Given the description of an element on the screen output the (x, y) to click on. 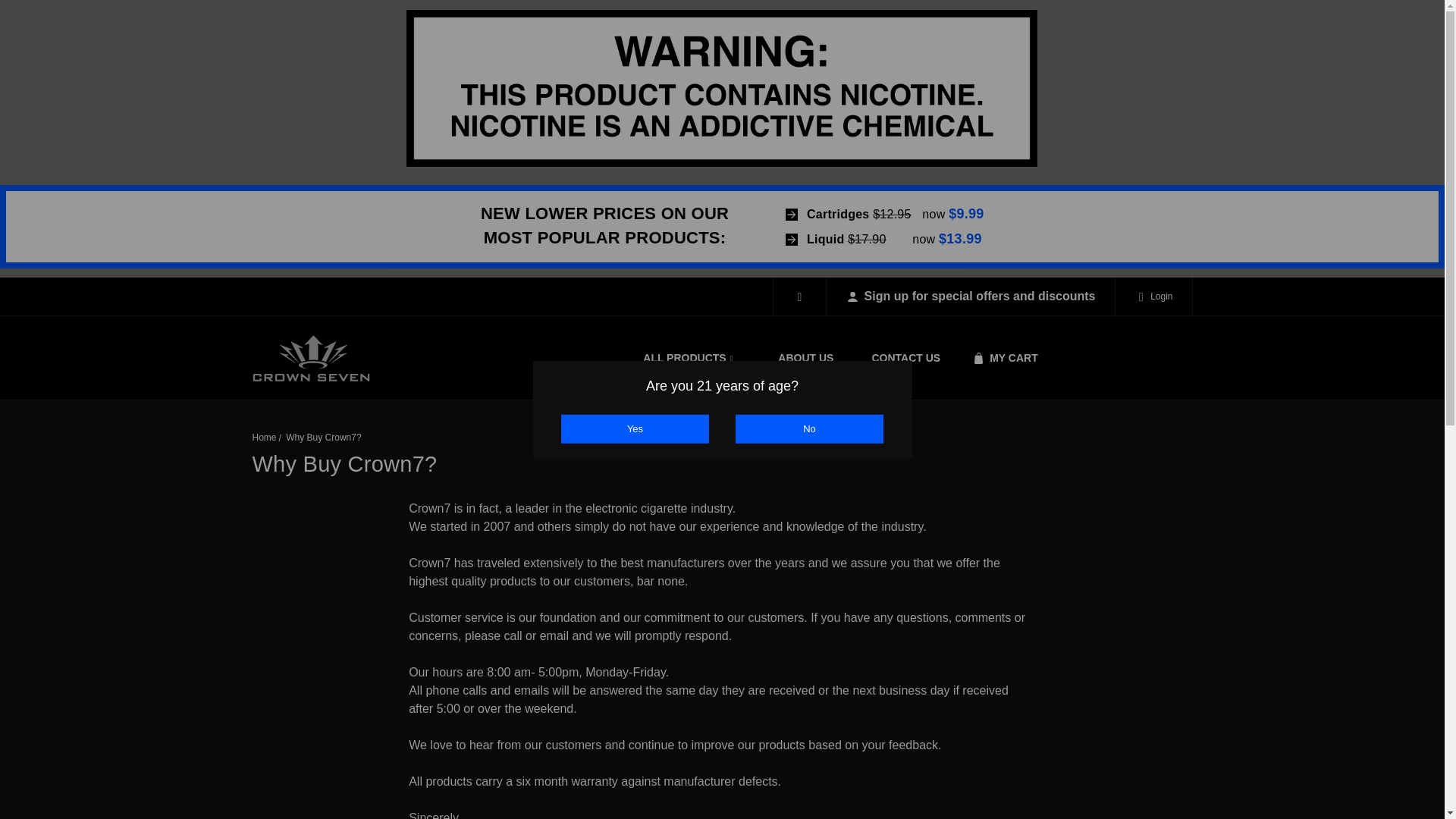
ALL PRODUCTS (691, 358)
Sign up for special offers and discounts (971, 296)
Why Buy Crown7? (323, 437)
CONTACT US (905, 358)
ABOUT US (804, 358)
Home (263, 437)
Crown7 (310, 357)
MY CART (1001, 358)
Login (1153, 296)
